Given the description of an element on the screen output the (x, y) to click on. 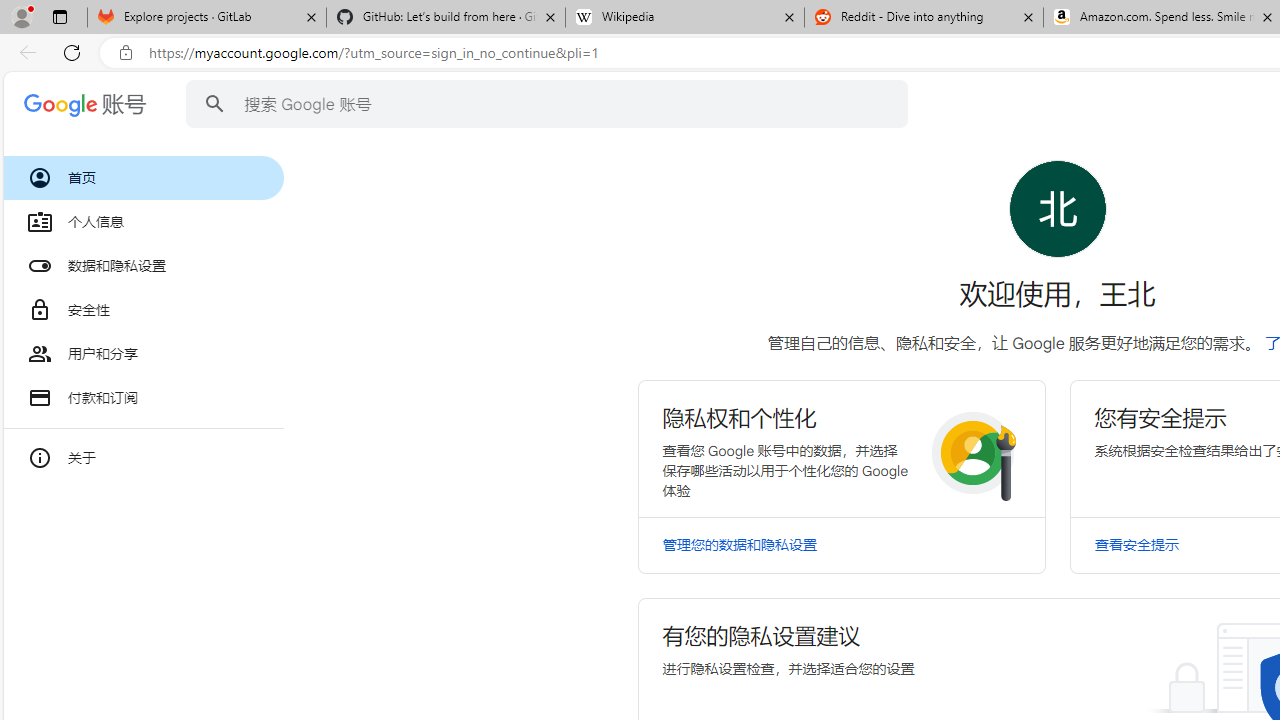
Class: RlFDUe N5YmOc kJXJmd bvW4md I6g62c (840, 448)
